Given the description of an element on the screen output the (x, y) to click on. 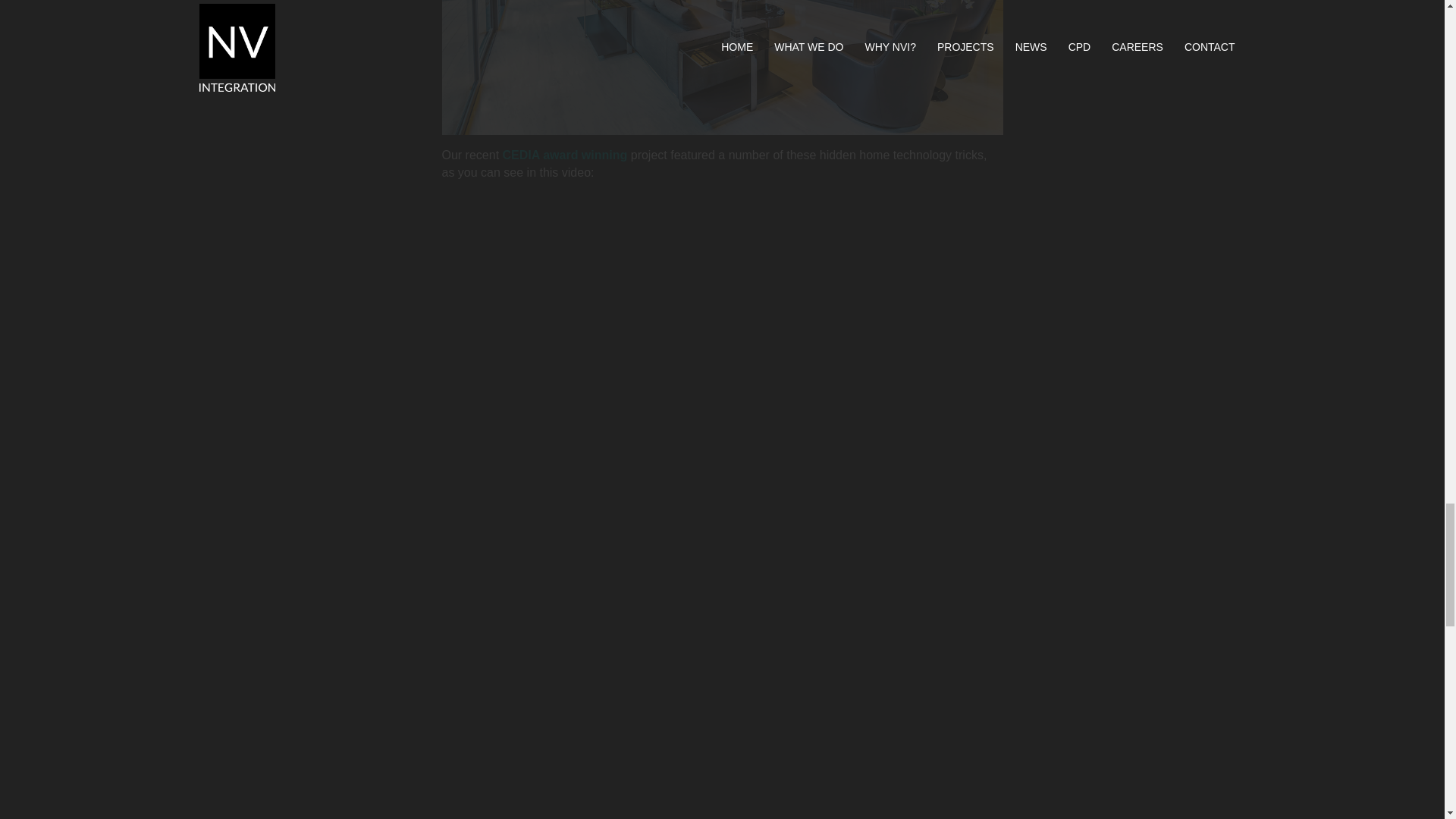
CEDIA award winning (564, 154)
